Given the description of an element on the screen output the (x, y) to click on. 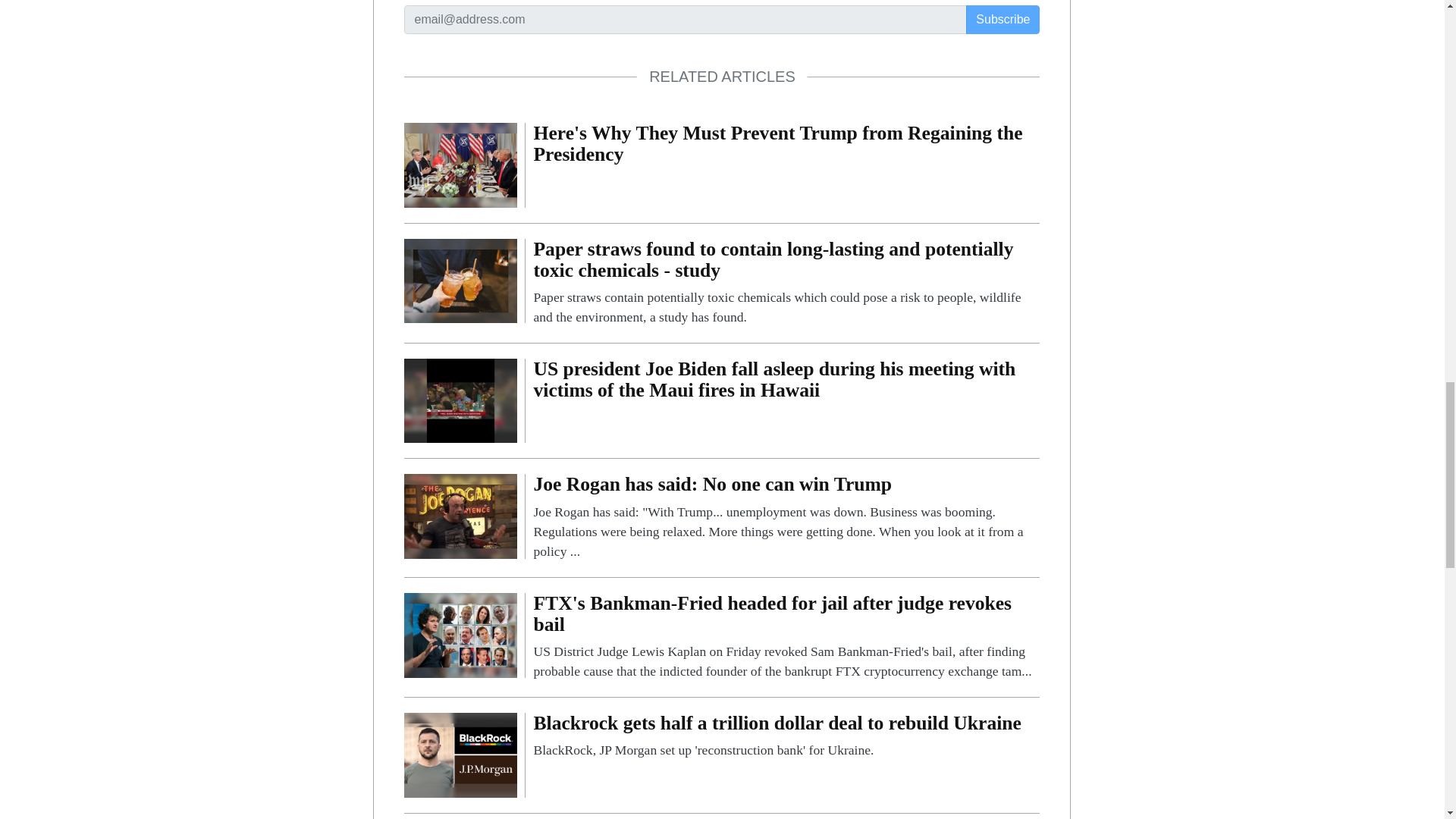
Subscribe (1002, 19)
FTX's Bankman-Fried headed for jail after judge revokes bail (785, 636)
Joe Rogan has said: No one can win Trump (460, 515)
Joe Rogan has said: No one can win Trump (785, 517)
